Given the description of an element on the screen output the (x, y) to click on. 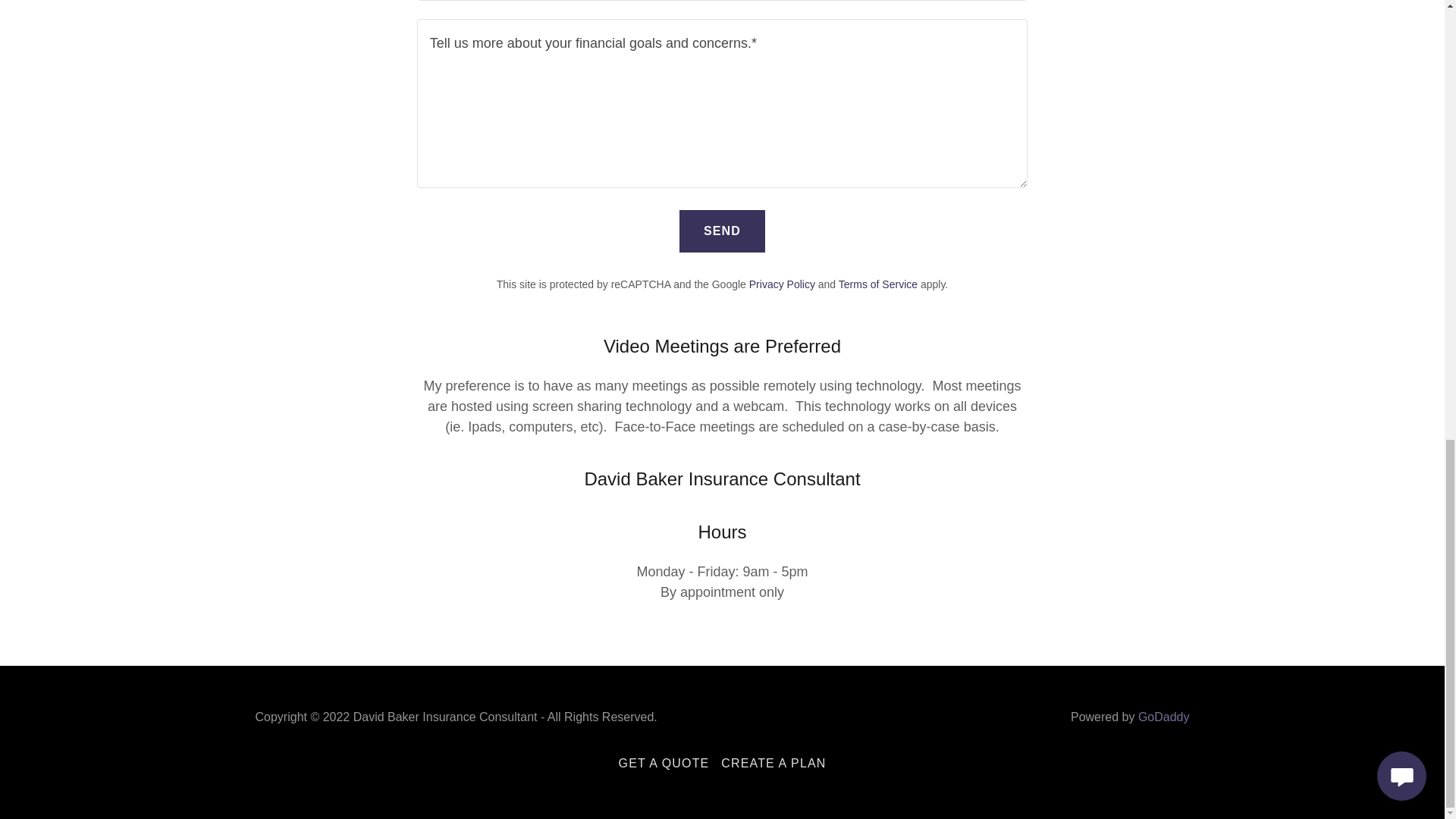
Terms of Service (877, 284)
SEND (722, 230)
Privacy Policy (782, 284)
GET A QUOTE (664, 763)
GoDaddy (1163, 716)
CREATE A PLAN (772, 763)
ACCEPT (1274, 187)
